Given the description of an element on the screen output the (x, y) to click on. 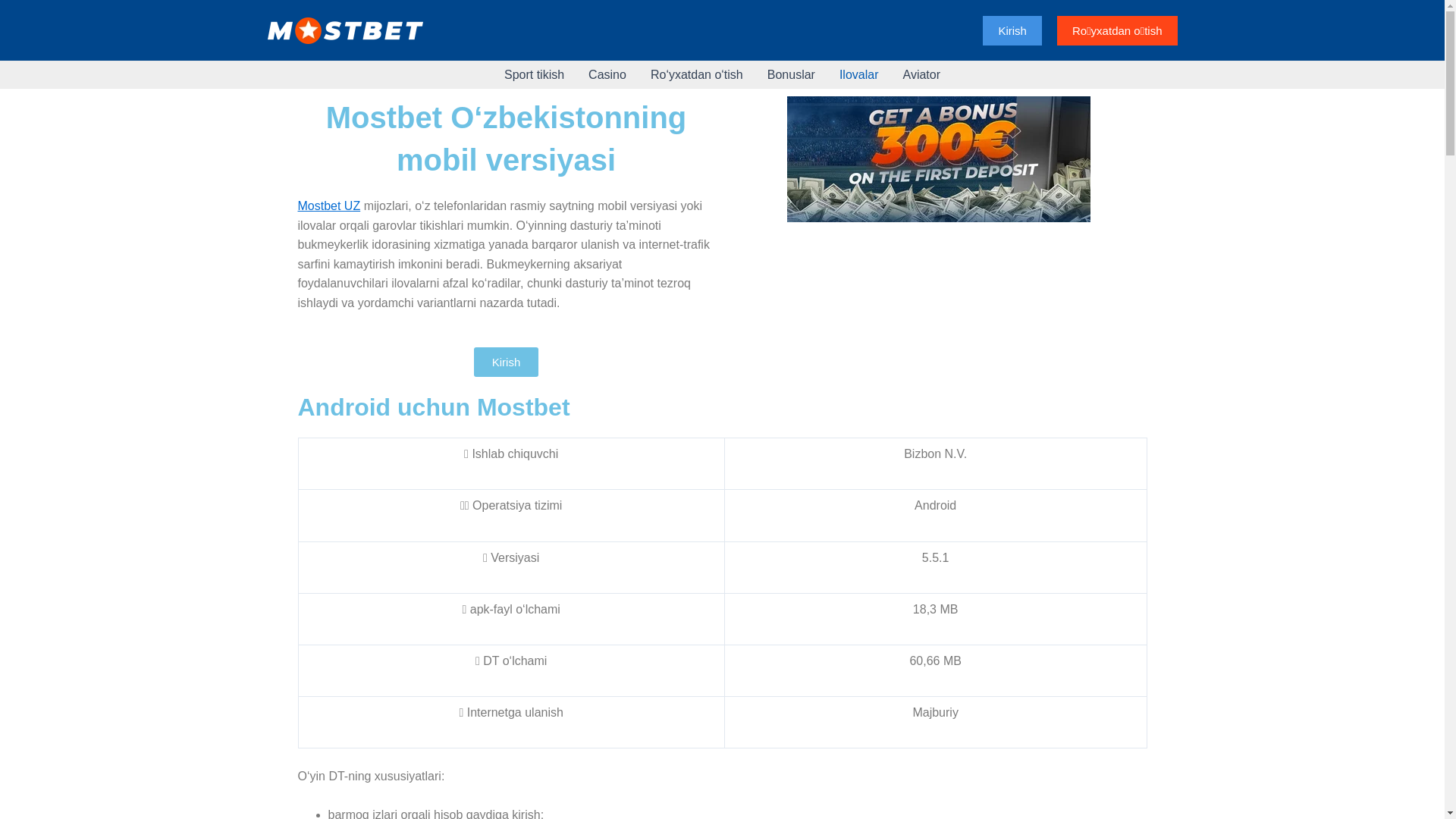
Aviator Element type: text (921, 74)
Casino Element type: text (607, 74)
Kirish Element type: text (506, 361)
Sport tikish Element type: text (534, 74)
Mostbet UZ Element type: text (328, 205)
Kirish Element type: text (1011, 29)
Ilovalar Element type: text (859, 74)
Bonuslar Element type: text (791, 74)
